Given the description of an element on the screen output the (x, y) to click on. 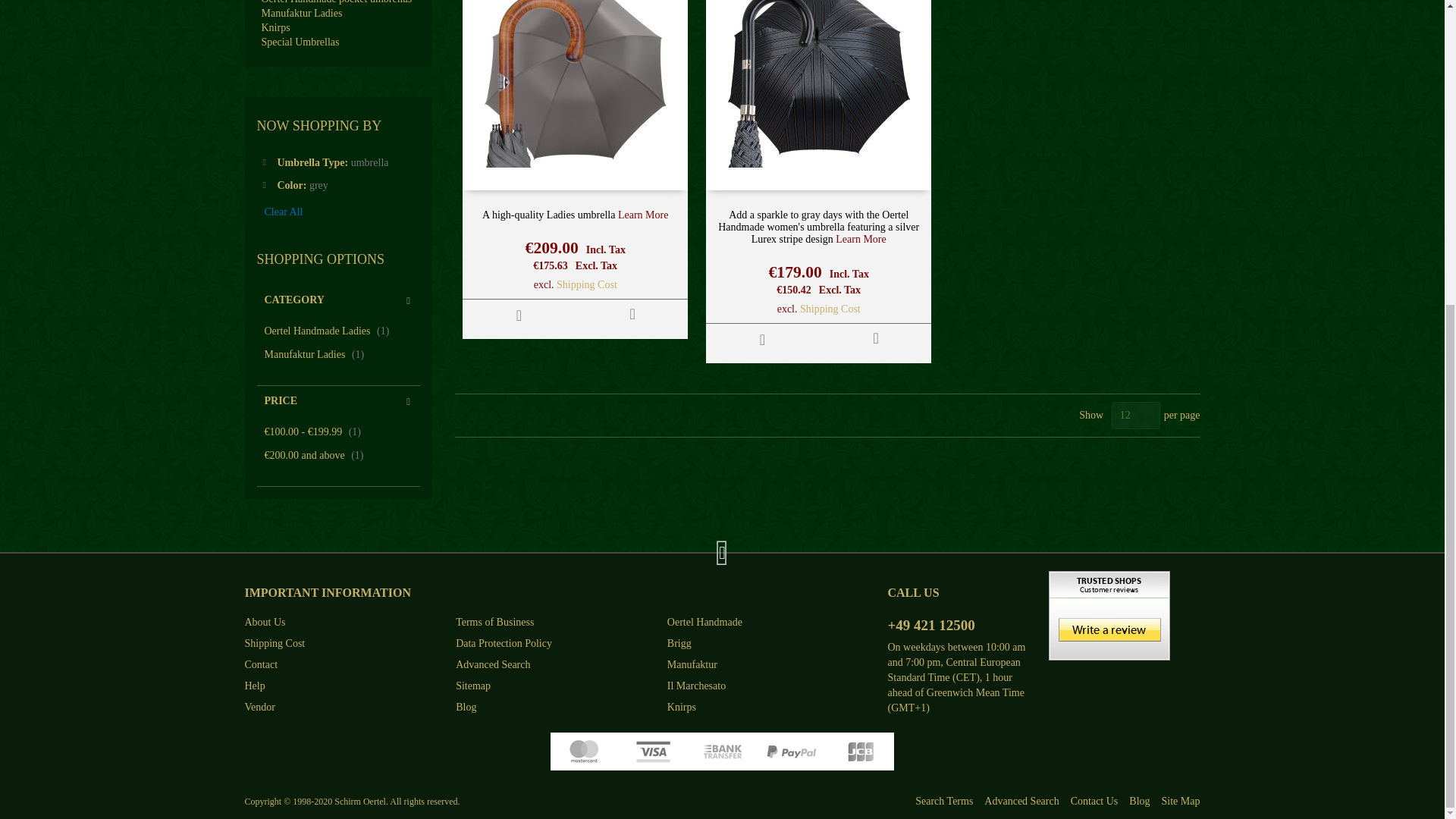
Add to Compare (631, 313)
Manufaktur Ladies uni - grey (642, 214)
Add to Compare (874, 337)
Add to Cart (762, 339)
Add to Cart (518, 315)
